Given the description of an element on the screen output the (x, y) to click on. 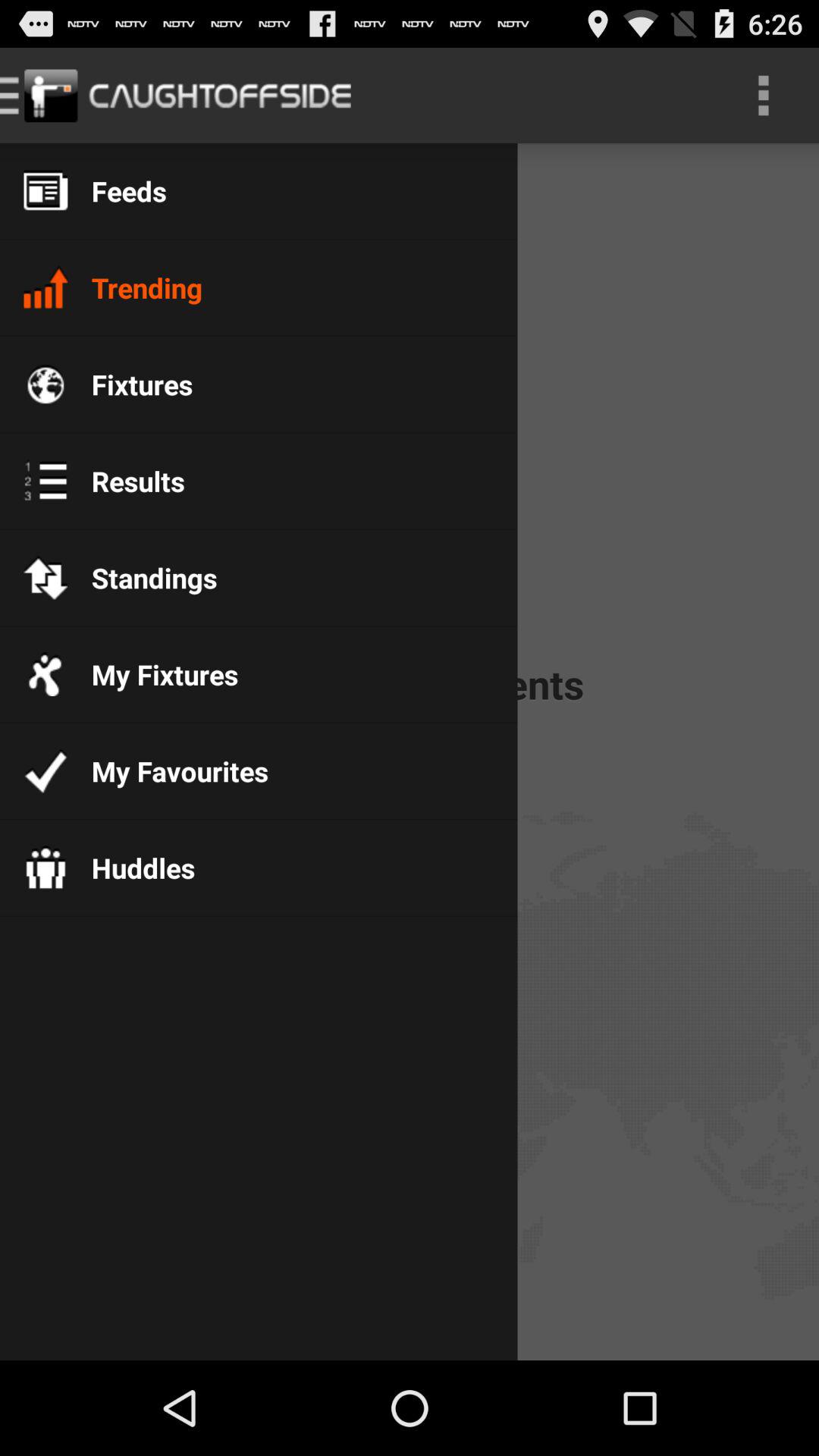
jump to standings (142, 577)
